Given the description of an element on the screen output the (x, y) to click on. 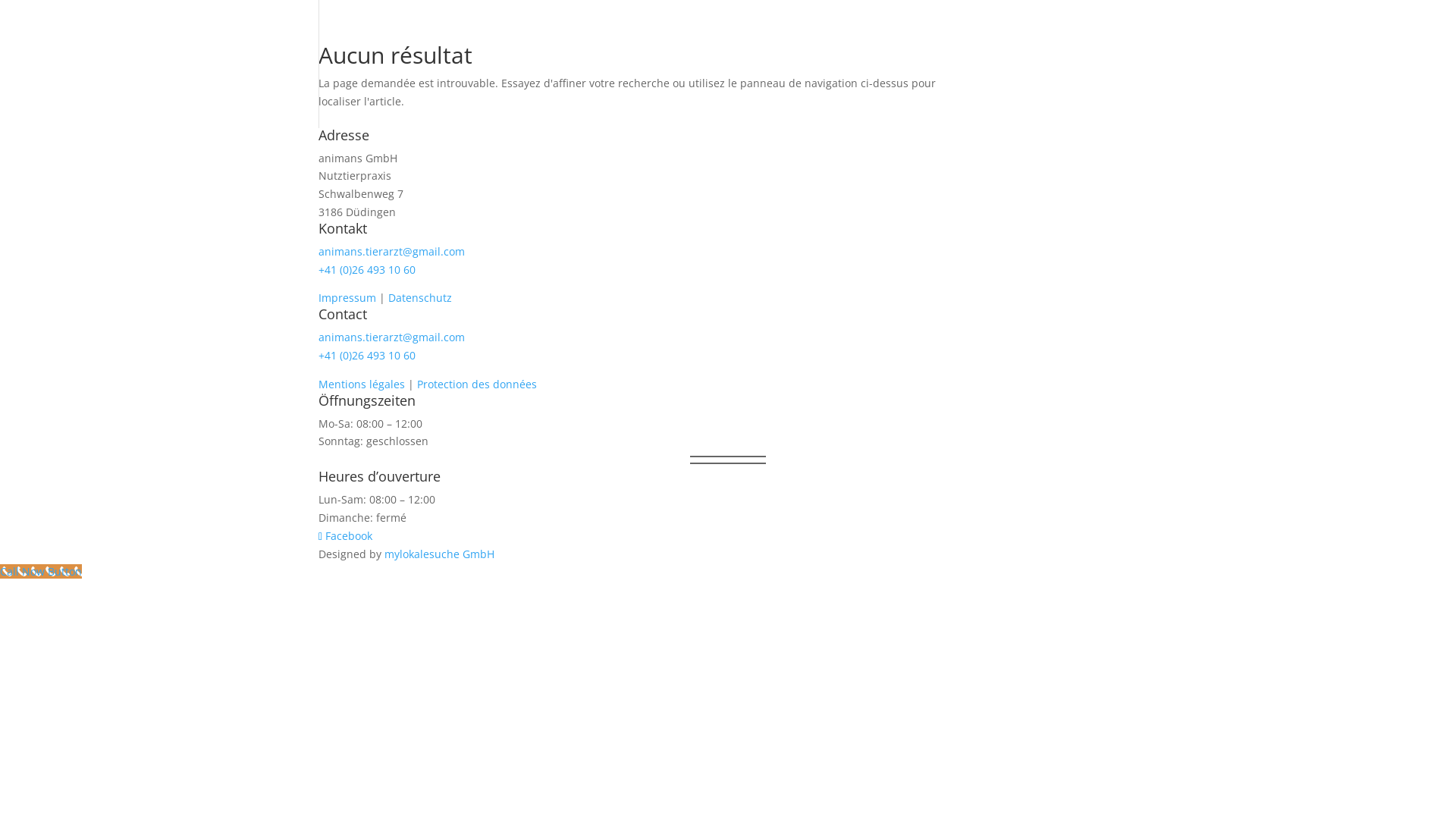
Call Now Button Element type: text (40, 571)
animans.tierarzt@gmail.com Element type: text (391, 251)
mylokalesuche GmbH Element type: text (439, 553)
+41 (0)26 493 10 60 Element type: text (366, 269)
+41 (0)26 493 10 60 Element type: text (366, 355)
Impressum Element type: text (347, 297)
Datenschutz Element type: text (419, 297)
Facebook Element type: text (345, 535)
animans.tierarzt@gmail.com Element type: text (391, 336)
